Given the description of an element on the screen output the (x, y) to click on. 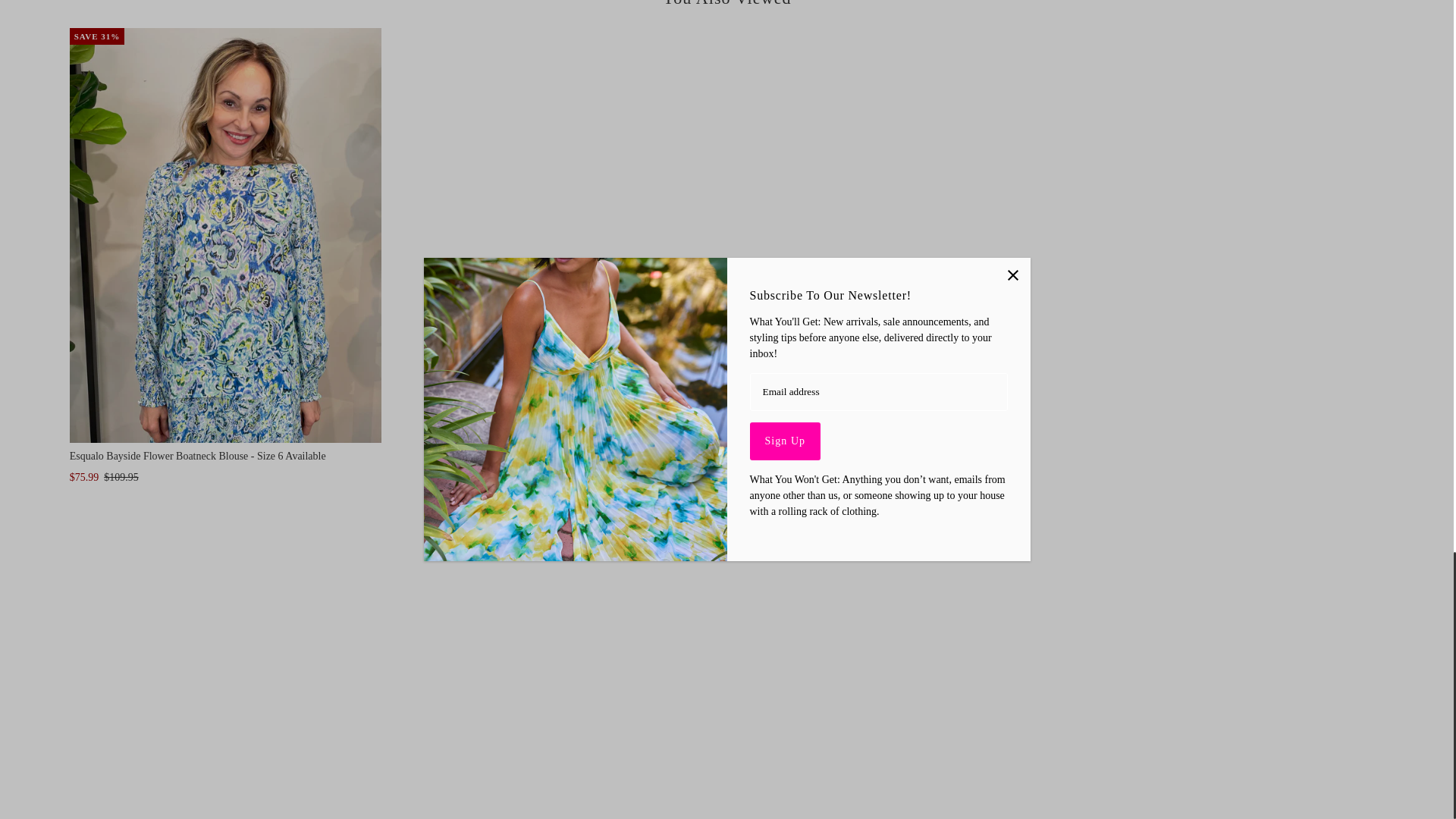
Esqualo Bayside Flower Boatneck Blouse - Size 6 Available (225, 235)
